Given the description of an element on the screen output the (x, y) to click on. 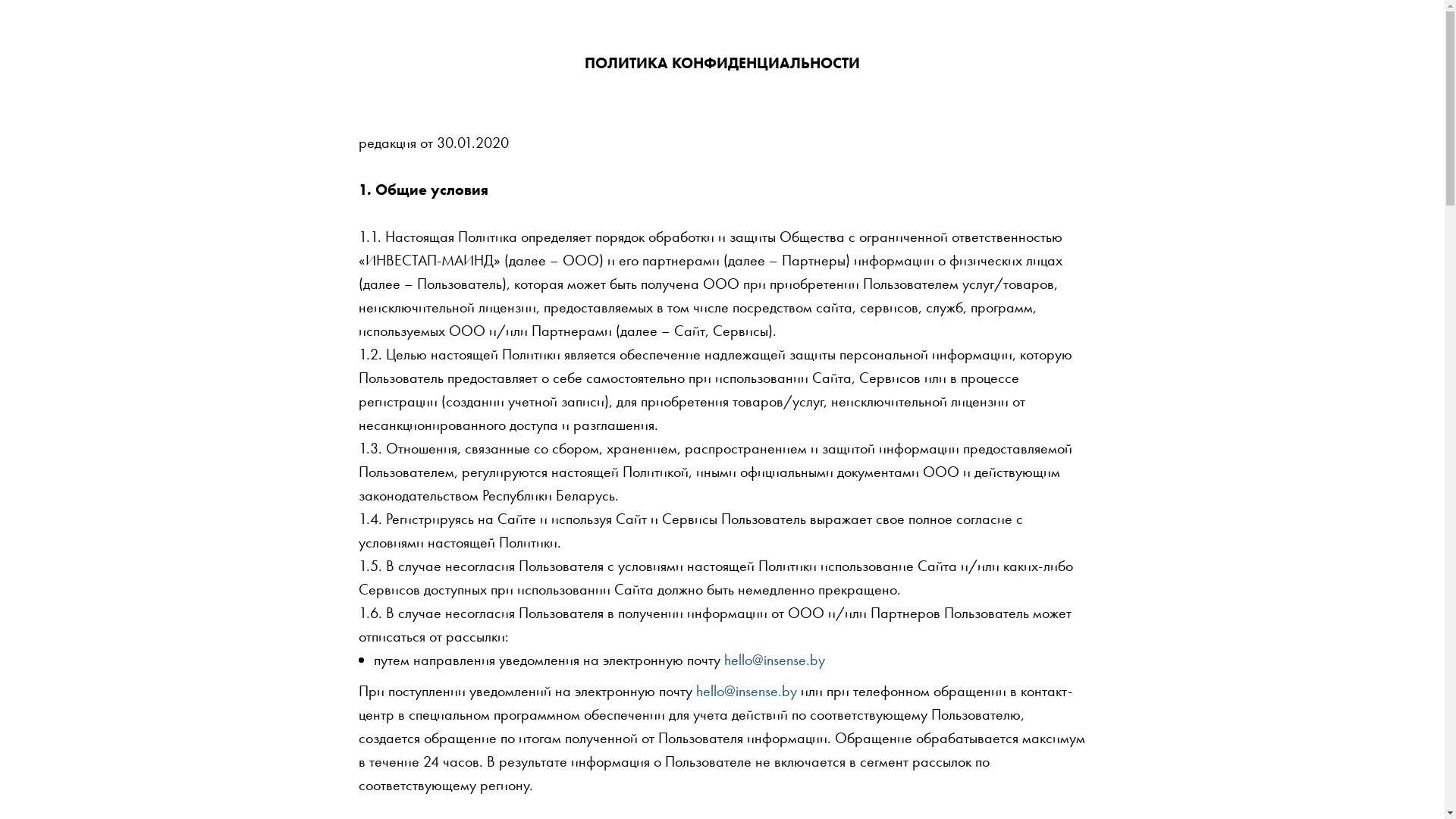
hello@insense.by Element type: text (773, 659)
hello@insense.by Element type: text (746, 690)
